Given the description of an element on the screen output the (x, y) to click on. 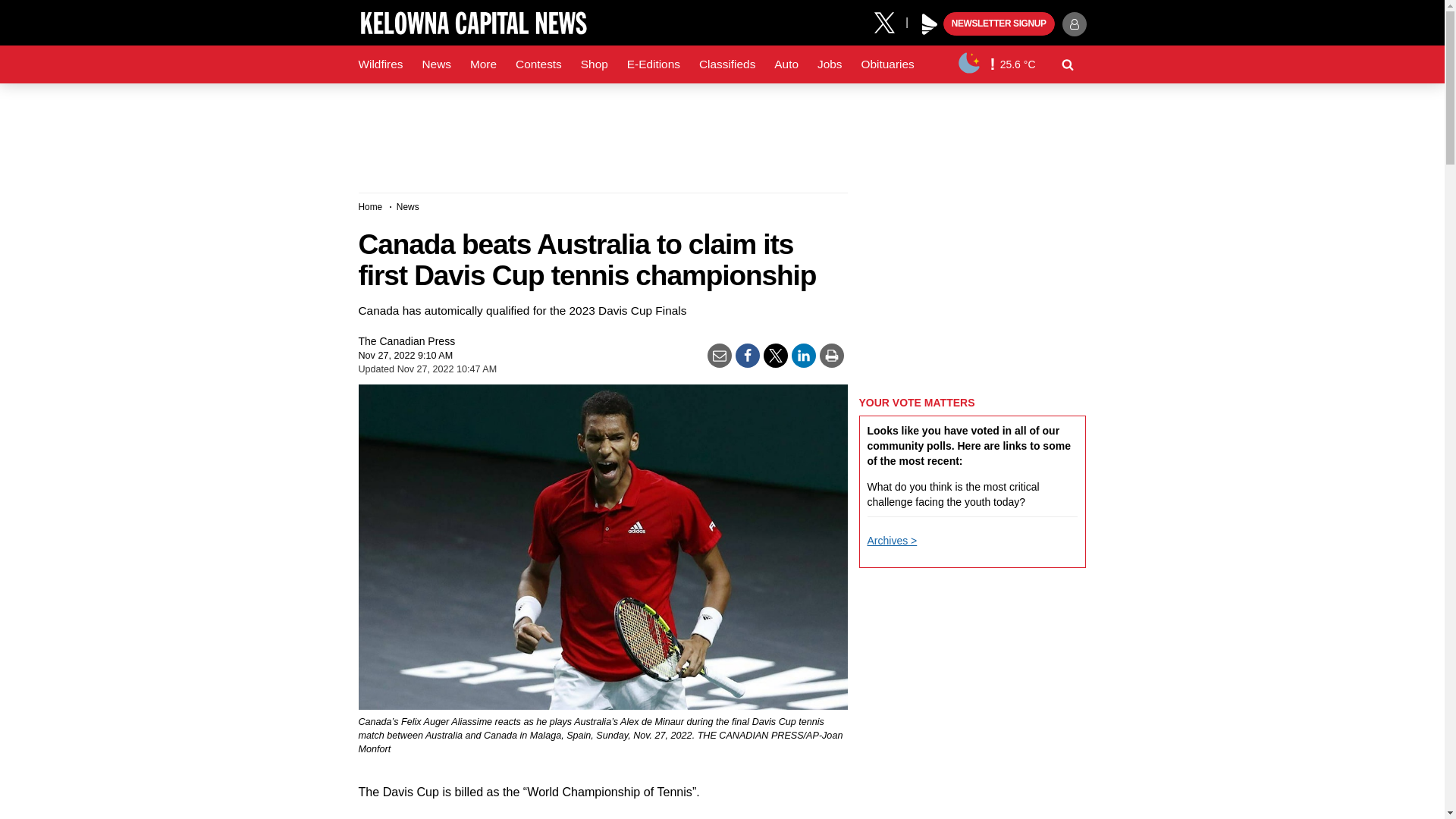
Wildfires (380, 64)
X (889, 21)
NEWSLETTER SIGNUP (998, 24)
Play (929, 24)
Black Press Media (929, 24)
News (435, 64)
